Given the description of an element on the screen output the (x, y) to click on. 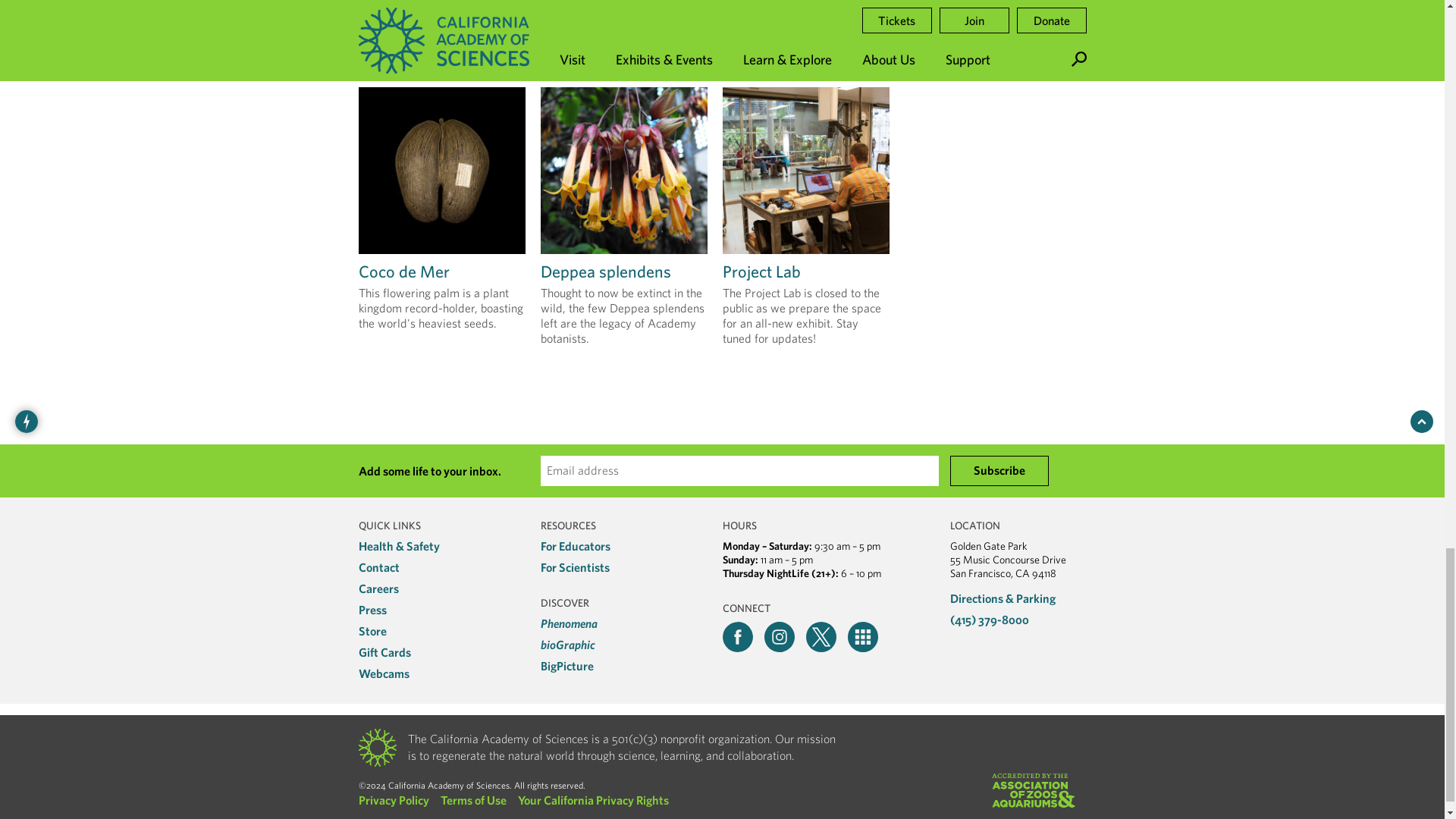
Subscribe (998, 470)
